Given the description of an element on the screen output the (x, y) to click on. 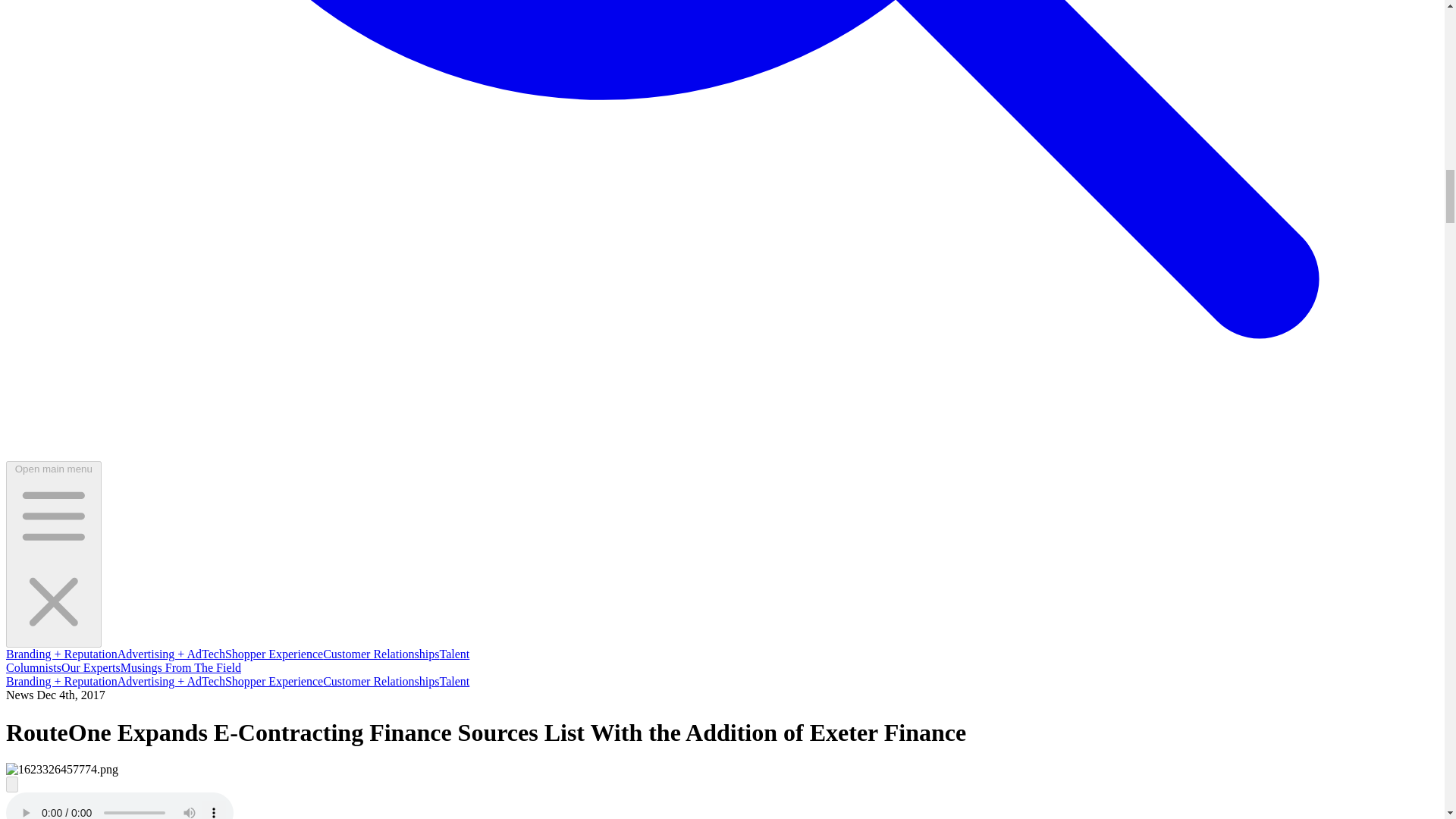
Our Experts (90, 667)
Talent (454, 680)
Talent (454, 653)
Shopper Experience (274, 653)
Musings From The Field (180, 667)
Columnists (33, 667)
Customer Relationships (381, 680)
Shopper Experience (274, 680)
Customer Relationships (381, 653)
